Given the description of an element on the screen output the (x, y) to click on. 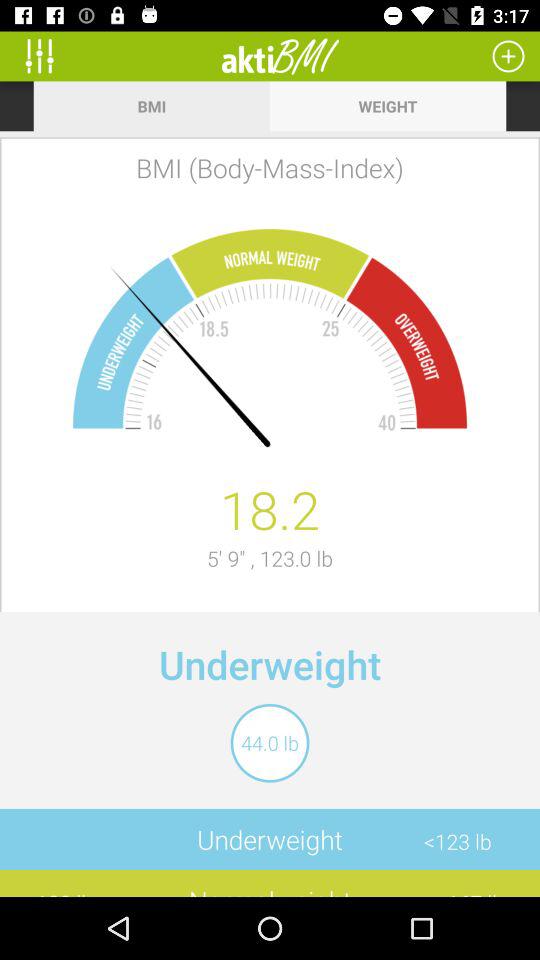
adjust levels (46, 56)
